Given the description of an element on the screen output the (x, y) to click on. 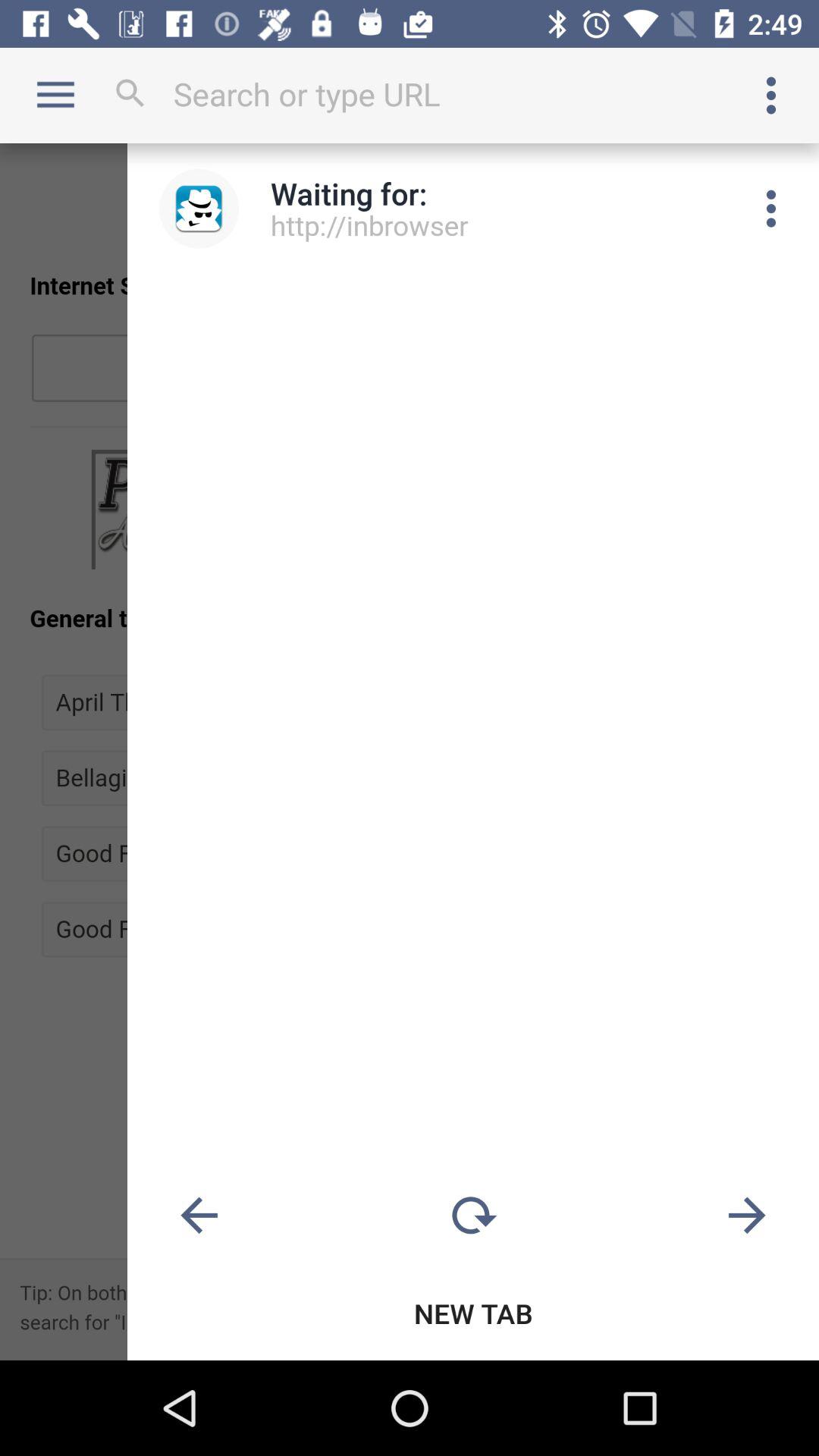
launch icon to the left of the waiting for: item (198, 208)
